Given the description of an element on the screen output the (x, y) to click on. 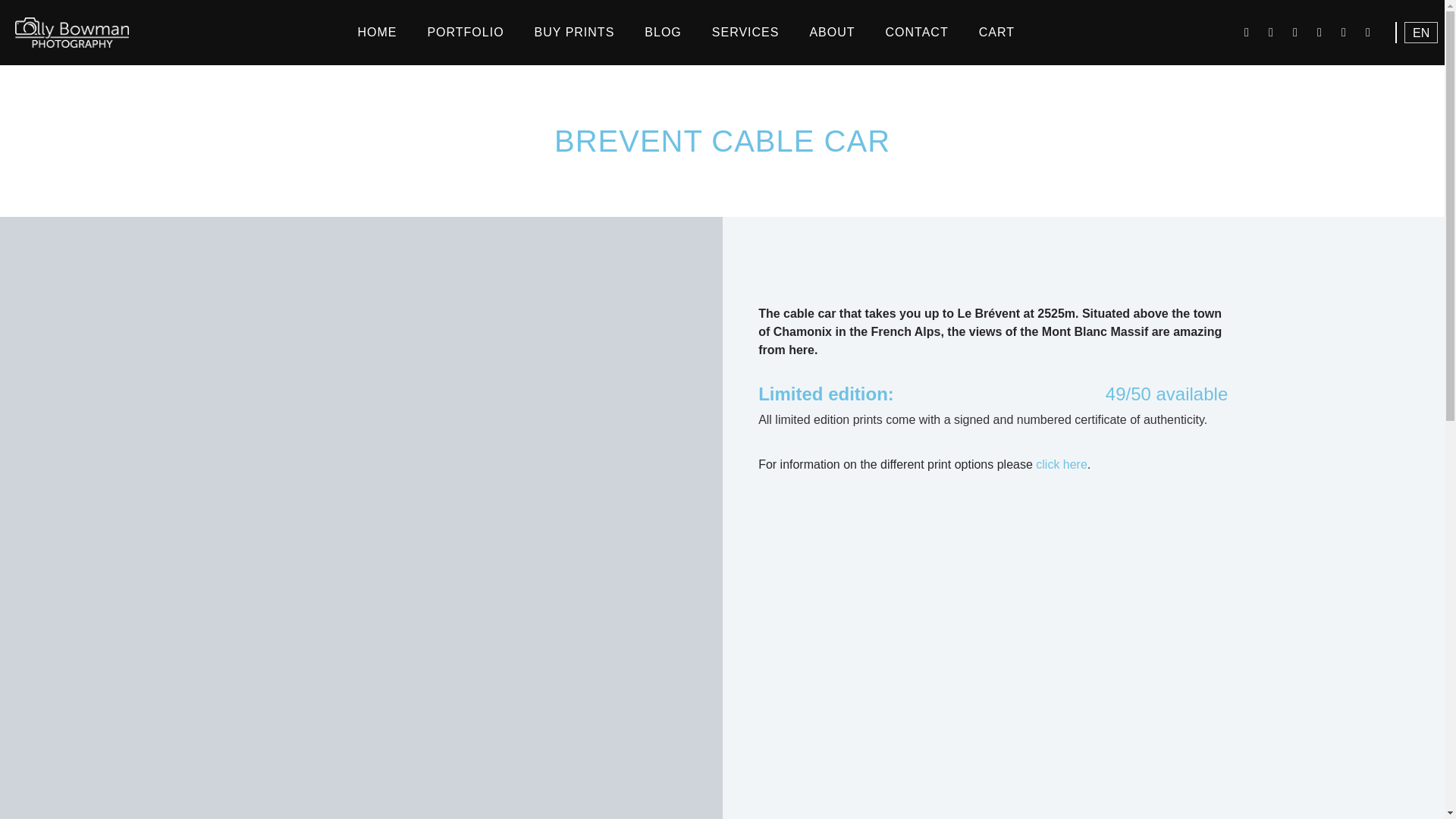
CART (996, 32)
CONTACT (916, 32)
PORTFOLIO (465, 32)
BUY PRINTS (574, 32)
SERVICES (745, 32)
ABOUT (831, 32)
HOME (377, 32)
BLOG (661, 32)
